Given the description of an element on the screen output the (x, y) to click on. 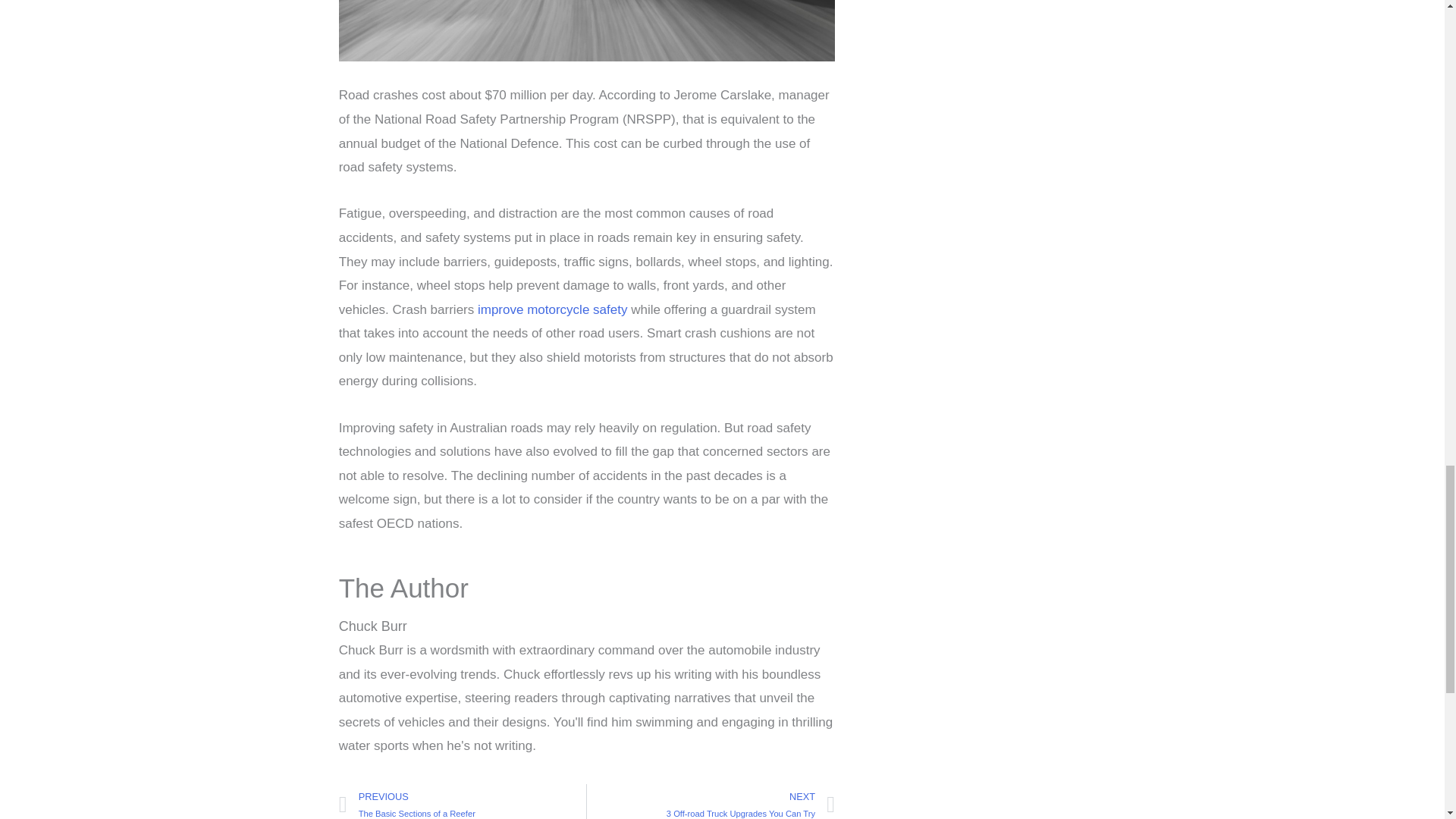
improve motorcycle safety (462, 801)
